Given the description of an element on the screen output the (x, y) to click on. 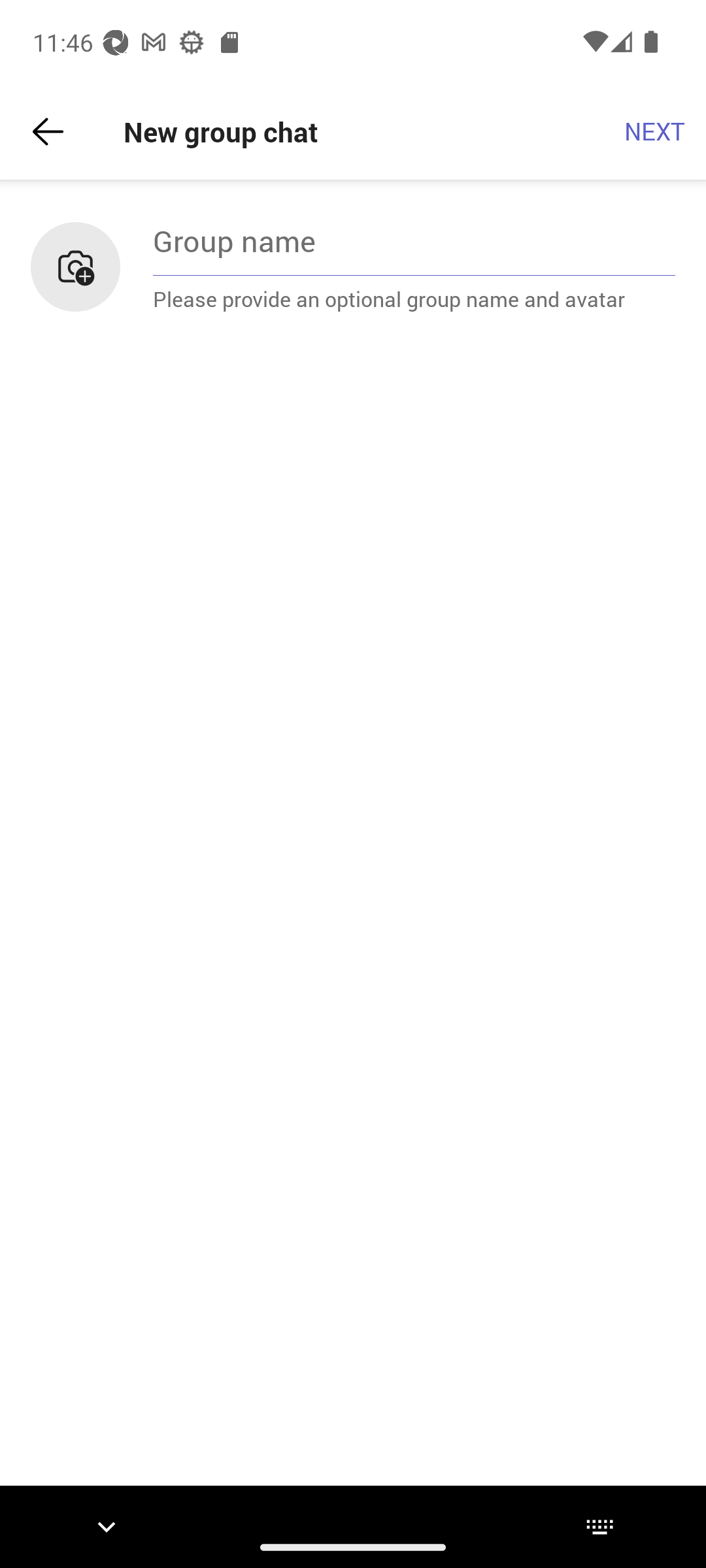
Back (48, 131)
NEXT (654, 131)
Group name (413, 240)
Edit Image (75, 267)
